Given the description of an element on the screen output the (x, y) to click on. 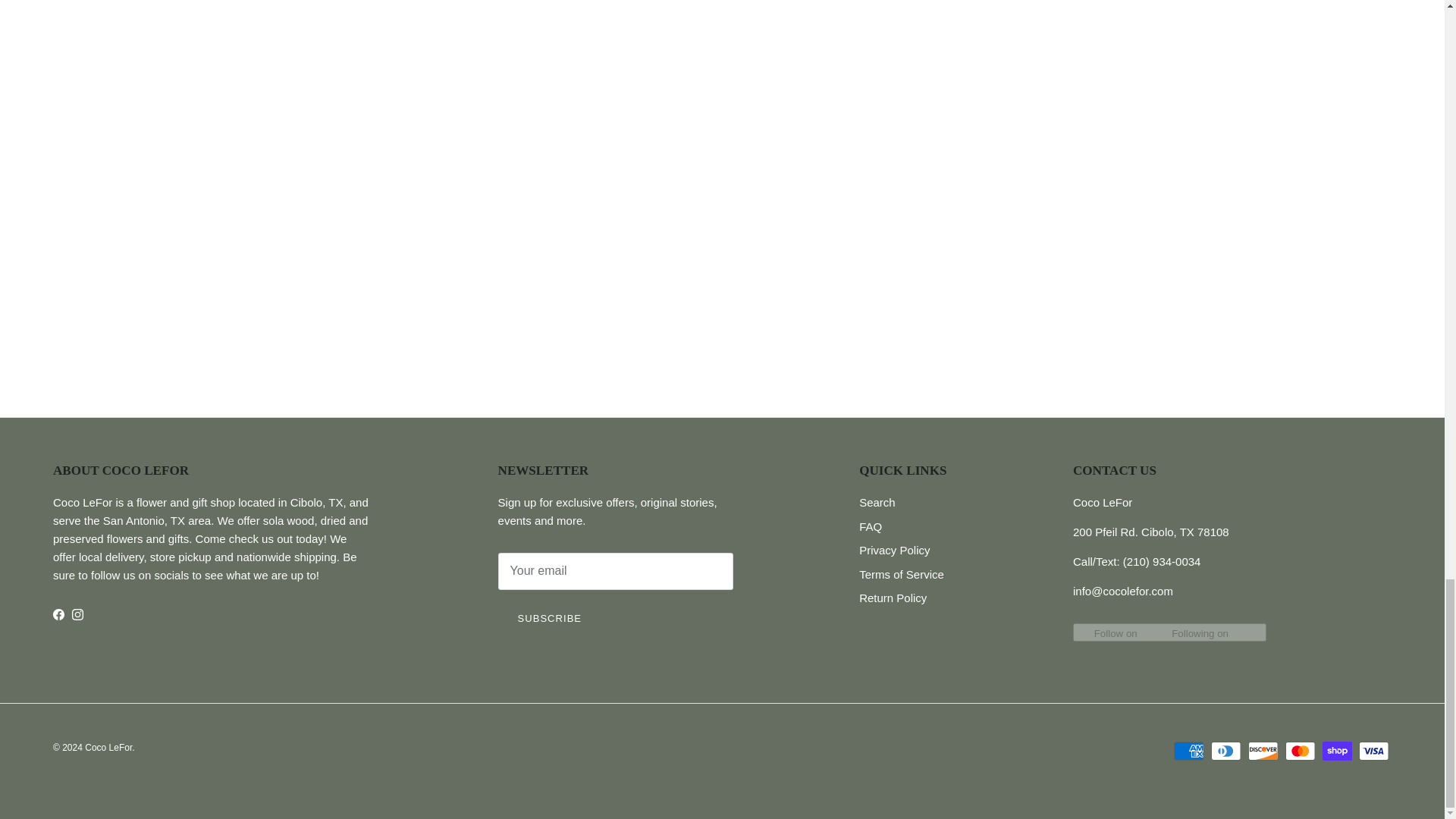
Visa (1373, 751)
American Express (1188, 751)
Discover (1262, 751)
Diners Club (1225, 751)
Coco LeFor on Instagram (76, 614)
Coco LeFor on Facebook (58, 614)
Mastercard (1299, 751)
Shop Pay (1337, 751)
